Given the description of an element on the screen output the (x, y) to click on. 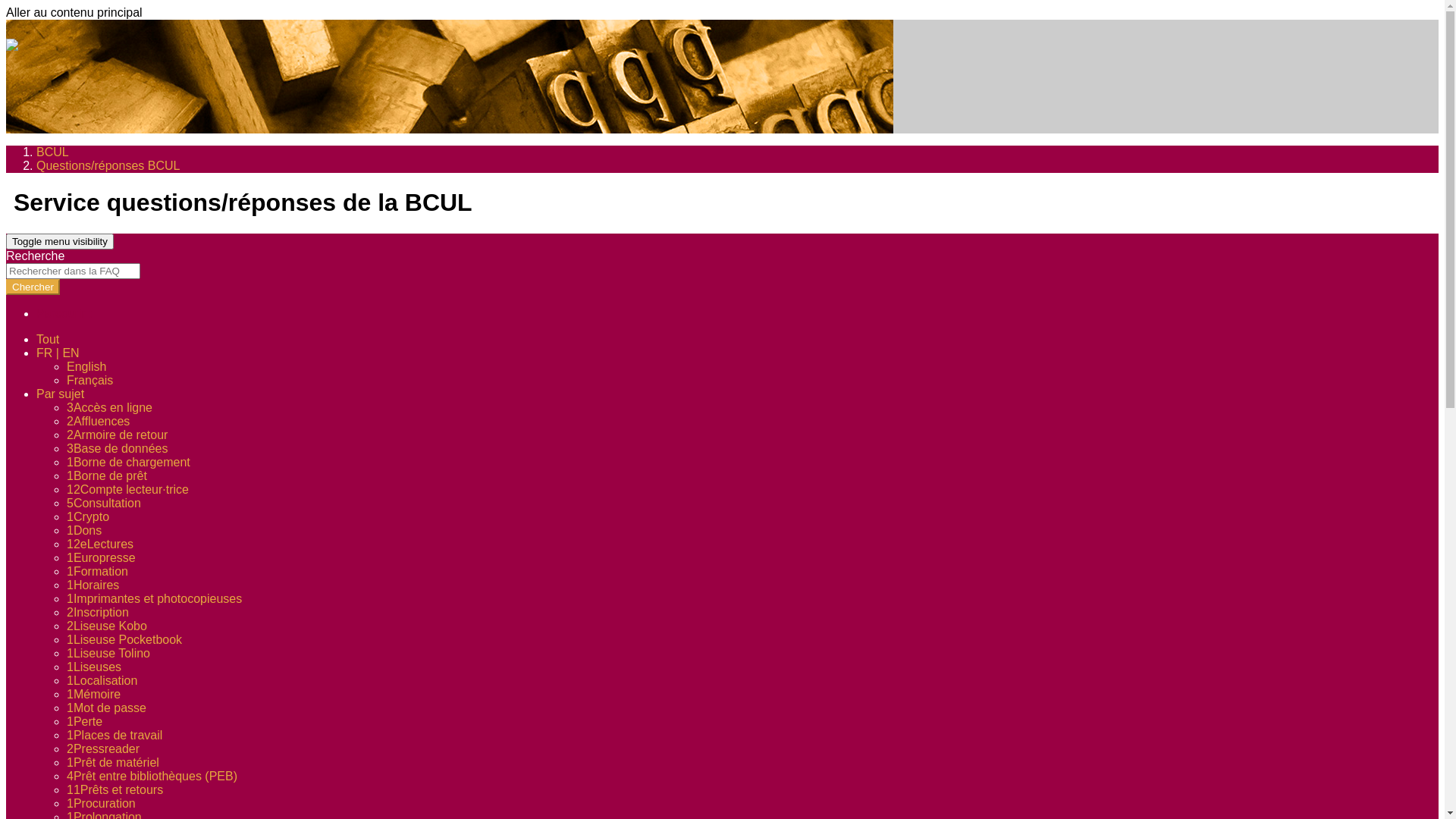
2Pressreader Element type: text (102, 748)
English Element type: text (86, 366)
2Armoire de retour Element type: text (116, 434)
Tout Element type: text (47, 338)
1Localisation Element type: text (101, 680)
1Liseuse Pocketbook Element type: text (124, 639)
2Affluences Element type: text (97, 420)
1Europresse Element type: text (100, 557)
1Mot de passe Element type: text (106, 707)
1Horaires Element type: text (92, 584)
1Liseuse Tolino Element type: text (108, 652)
12eLectures Element type: text (99, 543)
1Liseuses Element type: text (93, 666)
Aller au contenu principal Element type: text (74, 12)
Toggle menu visibility Element type: text (59, 241)
Chercher Element type: text (32, 286)
1Formation Element type: text (97, 570)
5Consultation Element type: text (103, 502)
FR | EN Element type: text (57, 352)
Par sujet Element type: text (60, 393)
1Crypto Element type: text (87, 516)
1Places de travail Element type: text (114, 734)
1Procuration Element type: text (100, 803)
2Liseuse Kobo Element type: text (106, 625)
1Dons Element type: text (83, 530)
1Imprimantes et photocopieuses Element type: text (153, 598)
2Inscription Element type: text (97, 611)
1Perte Element type: text (84, 721)
BCUL Element type: text (52, 151)
1Borne de chargement Element type: text (128, 461)
